Given the description of an element on the screen output the (x, y) to click on. 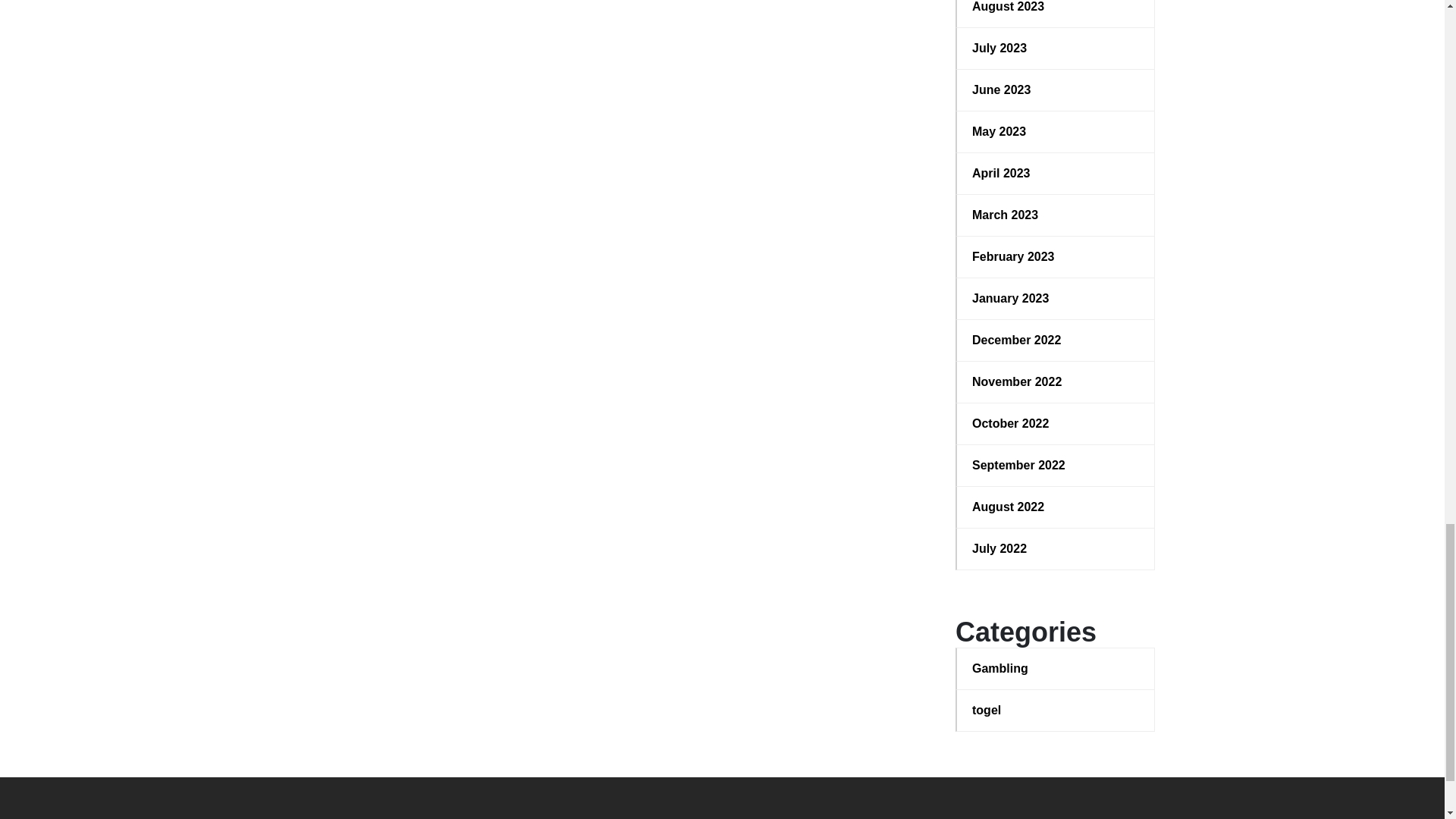
October 2022 (1055, 423)
March 2023 (1055, 215)
July 2023 (1055, 48)
November 2022 (1055, 382)
February 2023 (1055, 257)
April 2023 (1055, 173)
August 2022 (1055, 506)
May 2023 (1055, 131)
August 2023 (1055, 7)
January 2023 (1055, 298)
September 2022 (1055, 465)
June 2023 (1055, 90)
December 2022 (1055, 340)
